Given the description of an element on the screen output the (x, y) to click on. 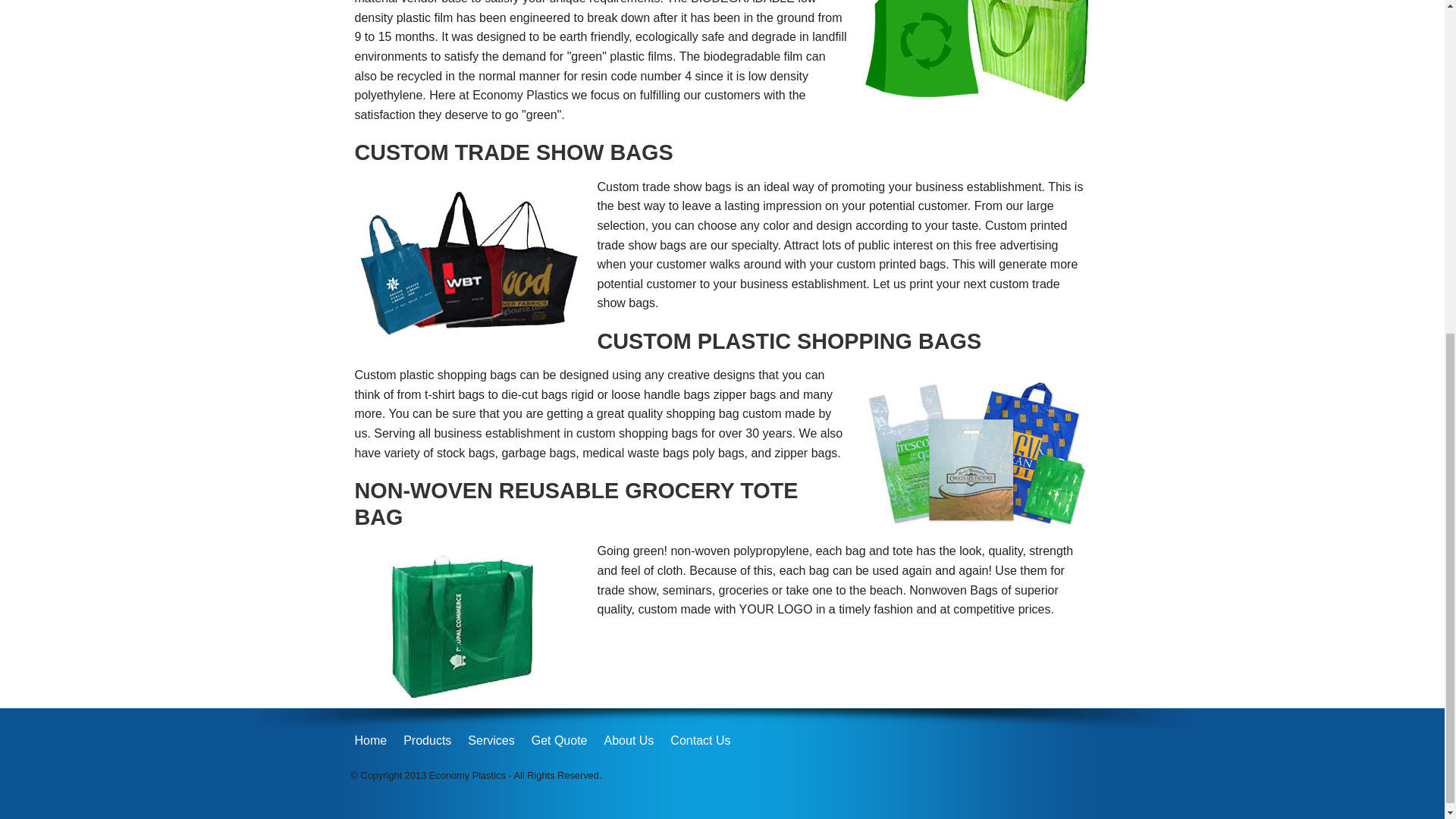
Get Quote (559, 741)
Products (427, 741)
Contact Us (699, 741)
Services (490, 741)
Home (371, 741)
About Us (628, 741)
